Given the description of an element on the screen output the (x, y) to click on. 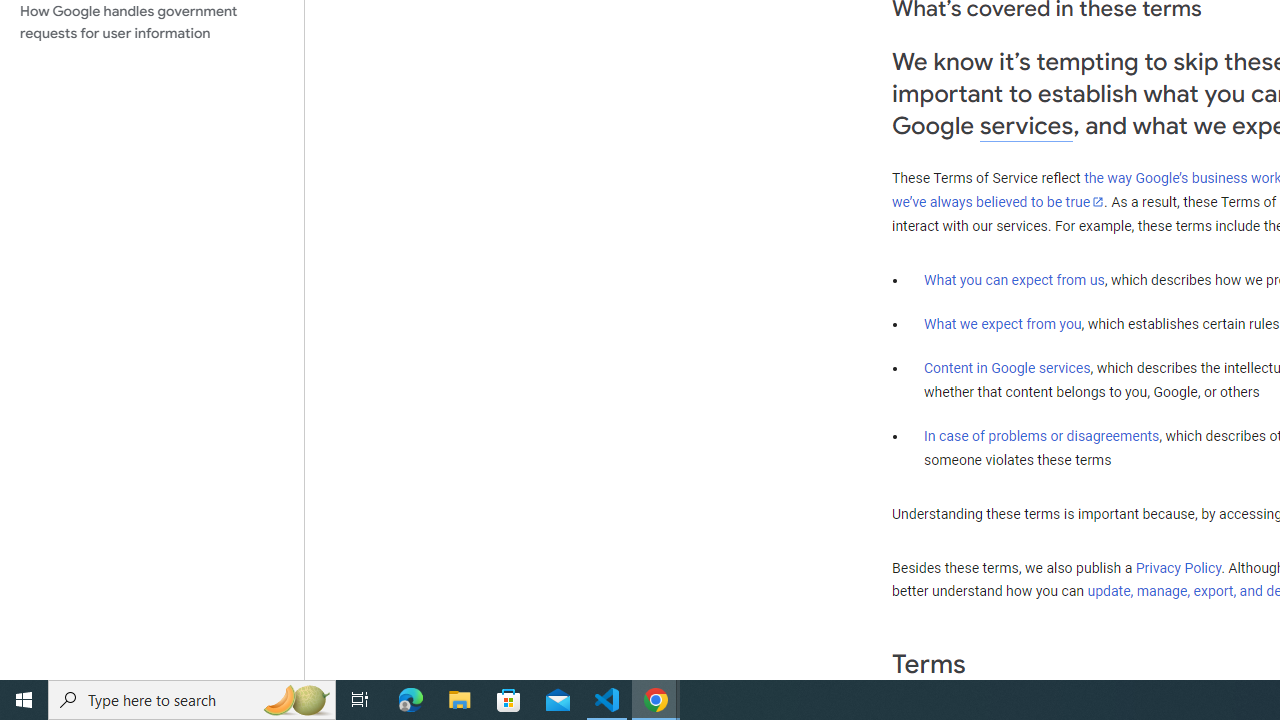
Content in Google services (1007, 368)
What we expect from you (1002, 323)
What you can expect from us (1014, 279)
In case of problems or disagreements (1041, 435)
services (1026, 125)
